Given the description of an element on the screen output the (x, y) to click on. 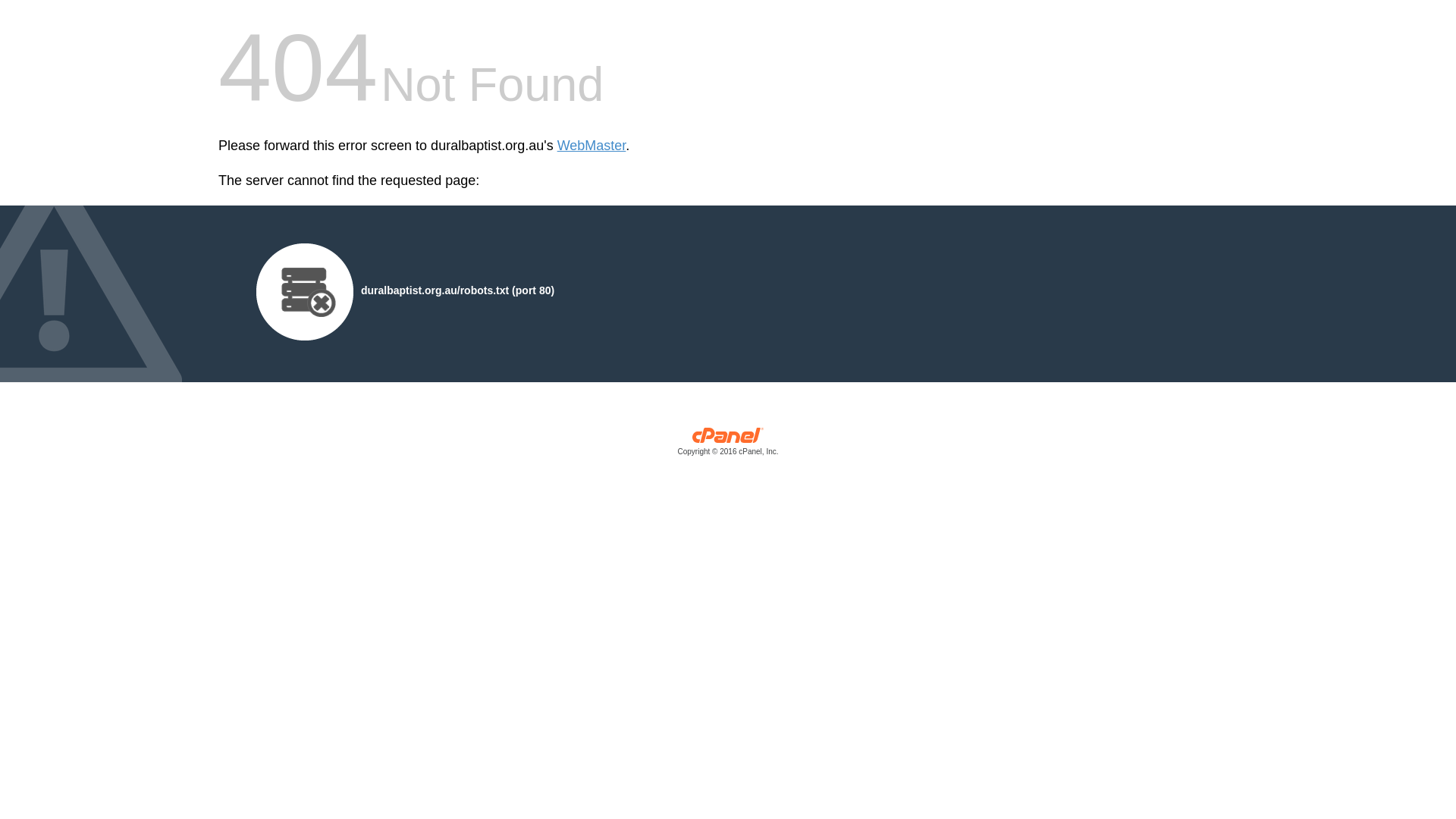
WebMaster Element type: text (591, 145)
